Given the description of an element on the screen output the (x, y) to click on. 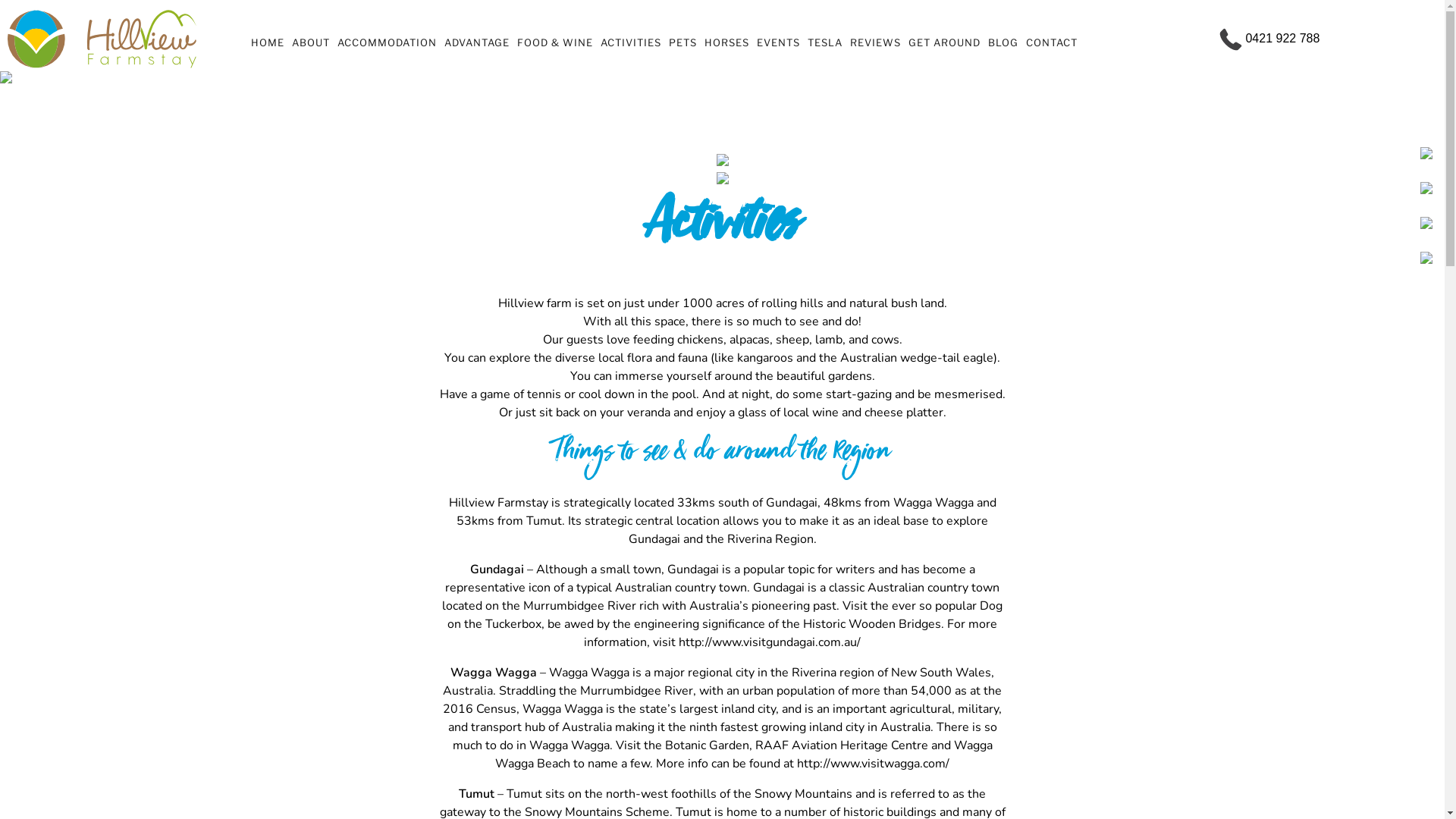
http://www.visitwagga.com/ Element type: text (873, 763)
ACCOMMODATION Element type: text (386, 42)
Hillview Farmstay Element type: text (498, 502)
ADVANTAGE Element type: text (476, 42)
REVIEWS Element type: text (875, 42)
BLOG Element type: text (1003, 42)
HOME Element type: text (267, 42)
CONTACT Element type: text (1051, 42)
ACTIVITIES Element type: text (630, 42)
PETS Element type: text (682, 42)
ABOUT Element type: text (310, 42)
FOOD & WINE Element type: text (555, 42)
BOOK NOW Element type: text (1386, 33)
http://www.visitgundagai.com.au/ Element type: text (769, 641)
EVENTS Element type: text (778, 42)
 0421 922 788 Element type: text (1269, 37)
GET AROUND Element type: text (944, 42)
HORSES Element type: text (726, 42)
TESLA Element type: text (824, 42)
